Given the description of an element on the screen output the (x, y) to click on. 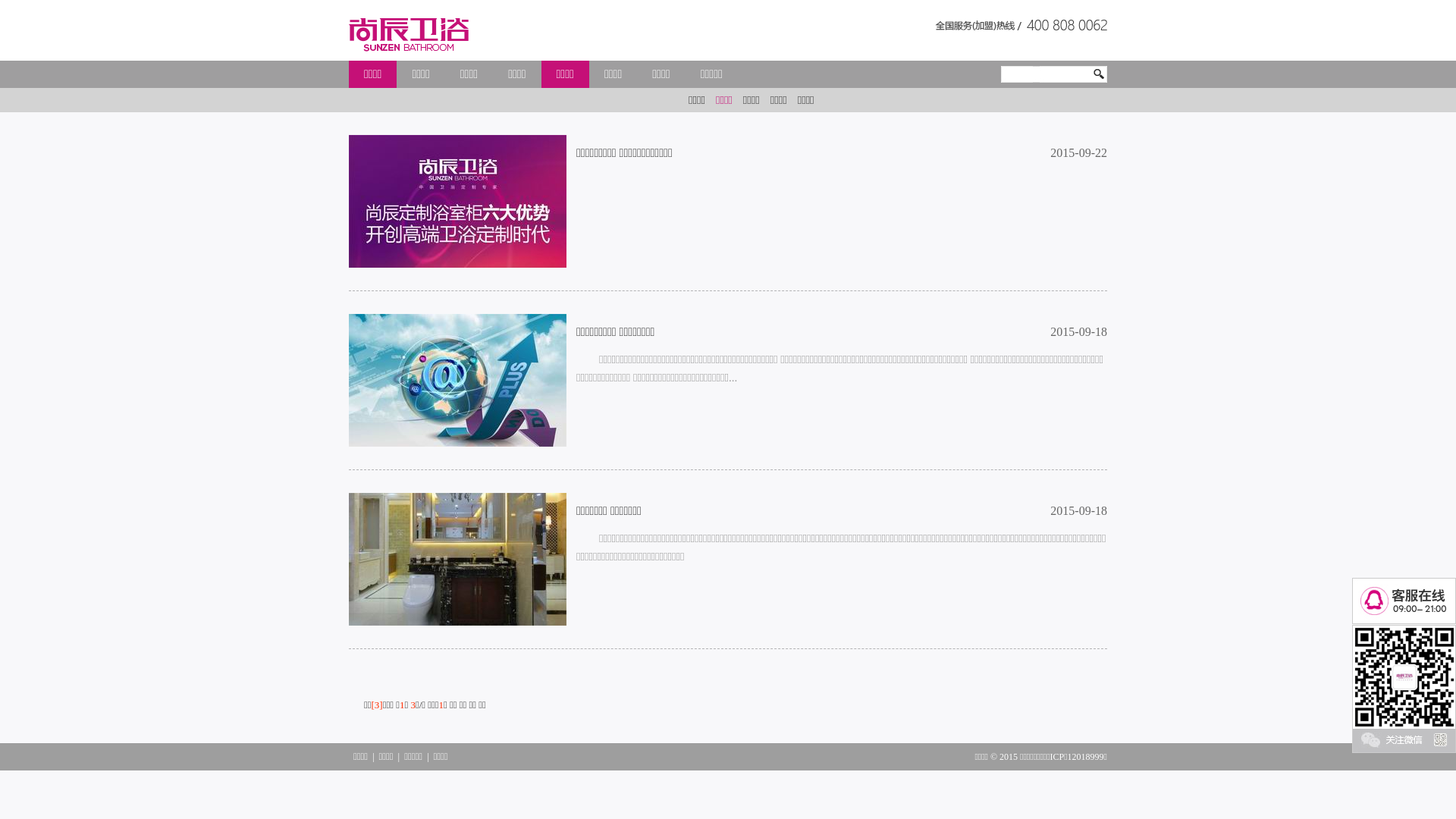
12018999 Element type: text (1085, 756)
